Given the description of an element on the screen output the (x, y) to click on. 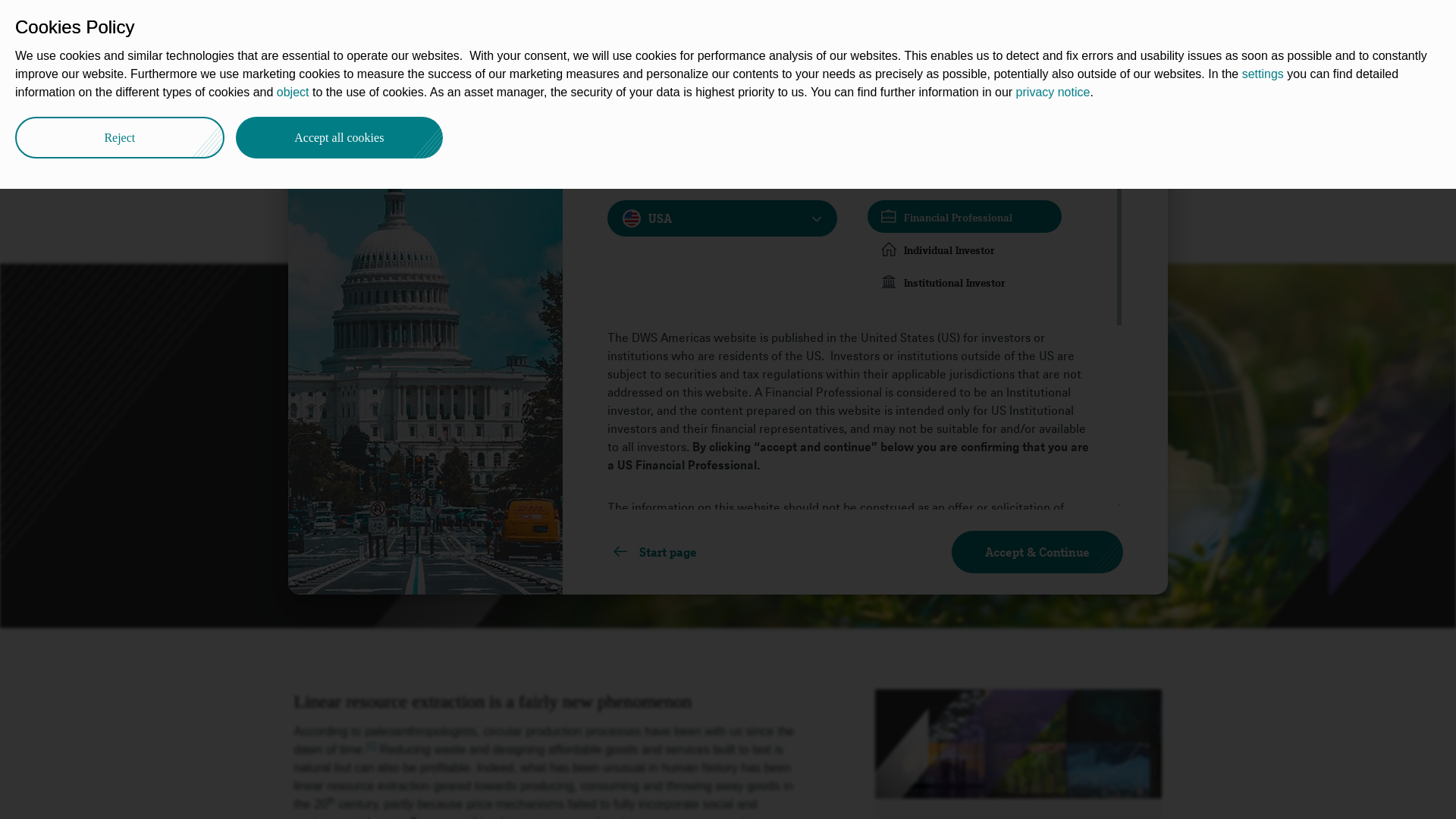
Share (1140, 90)
Profile (792, 24)
Macro (531, 92)
Global CIO View (455, 92)
Insights (420, 24)
Solutions (614, 24)
Print (1159, 91)
Products (673, 24)
Capabilities (483, 24)
Insights (376, 92)
Resources (736, 24)
Home (322, 92)
Strategies (551, 24)
Macro (531, 92)
Insights (376, 92)
